Given the description of an element on the screen output the (x, y) to click on. 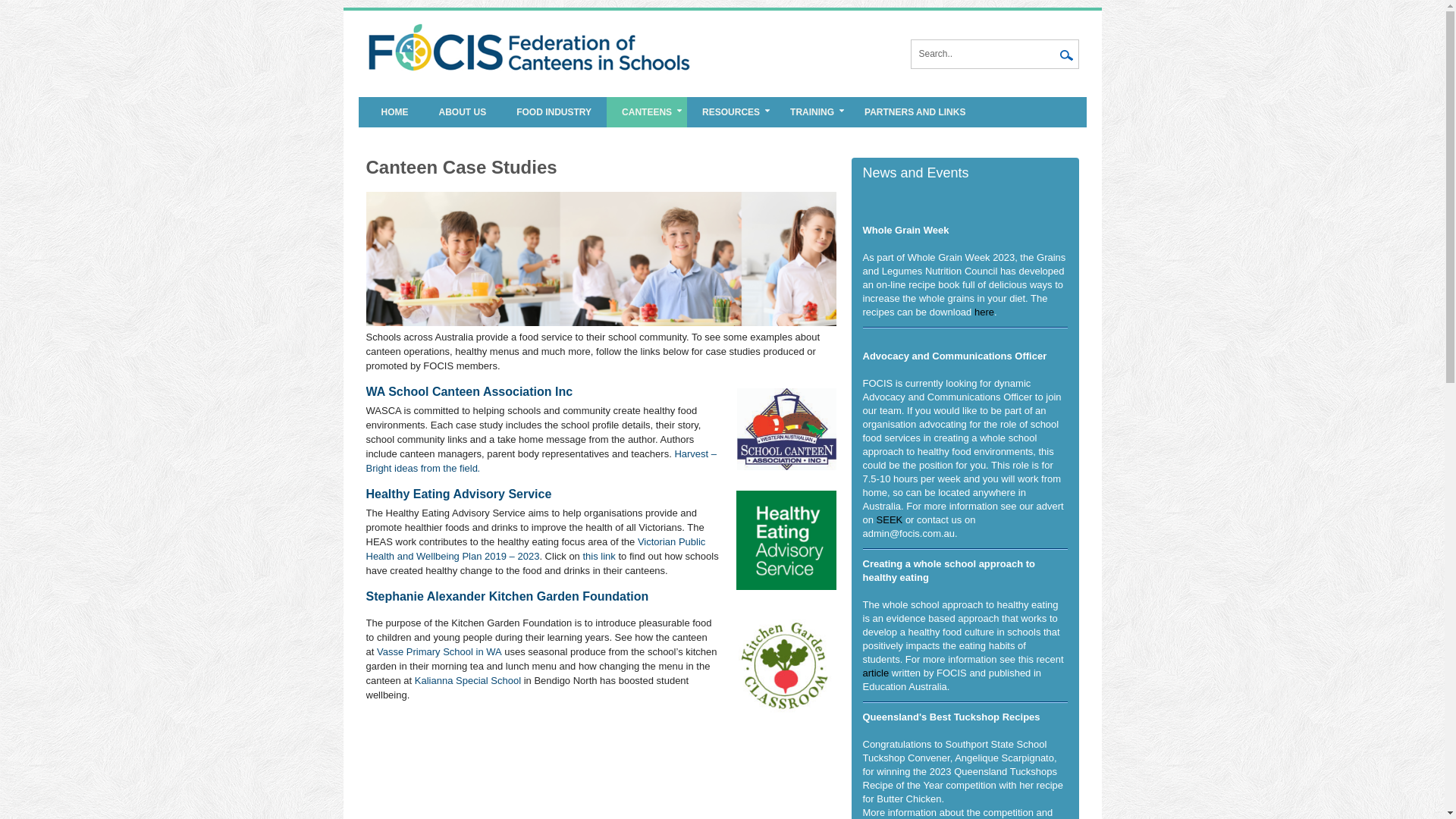
Vasse Primary School in WA Element type: text (439, 651)
Search Element type: text (1066, 56)
ABOUT US Element type: text (462, 112)
here Element type: text (984, 311)
Kalianna Special School Element type: text (467, 680)
CANTEENS Element type: text (646, 112)
this link Element type: text (598, 555)
PARTNERS AND LINKS Element type: text (914, 112)
SEEK Element type: text (889, 519)
RESOURCES Element type: text (731, 112)
article Element type: text (875, 672)
HOME Element type: text (394, 112)
TRAINING Element type: text (812, 112)
FOOD INDUSTRY Element type: text (553, 112)
Focis Element type: hover (539, 28)
